Given the description of an element on the screen output the (x, y) to click on. 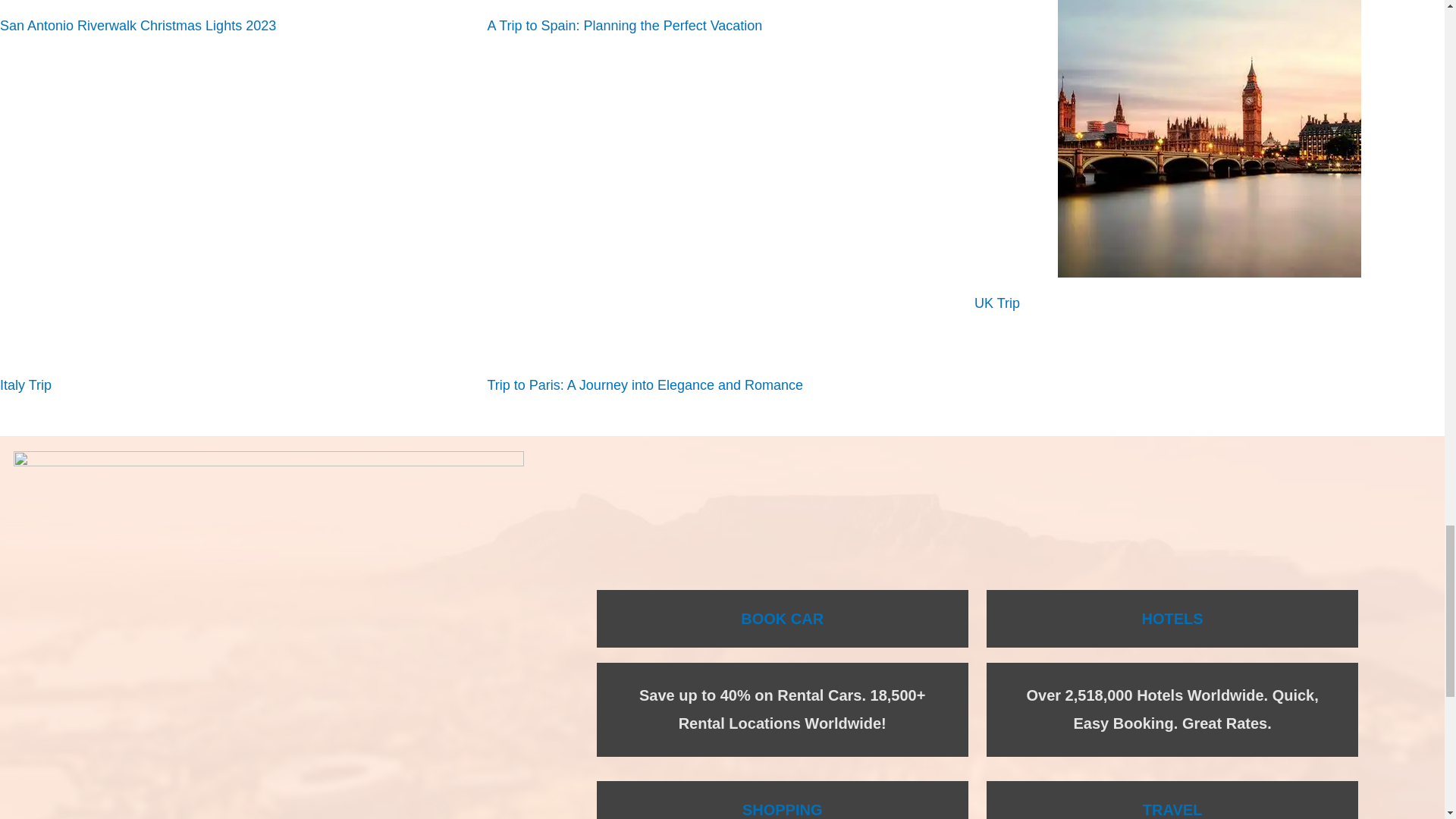
Italy Trip (25, 385)
HOTELS (1172, 618)
San Antonio Riverwalk Christmas Lights 2023 (138, 25)
Trip to Paris: A Journey into Elegance and Romance (644, 385)
A Trip to Spain: Planning the Perfect Vacation (623, 25)
UK Trip (997, 303)
BOOK CAR (782, 618)
